Given the description of an element on the screen output the (x, y) to click on. 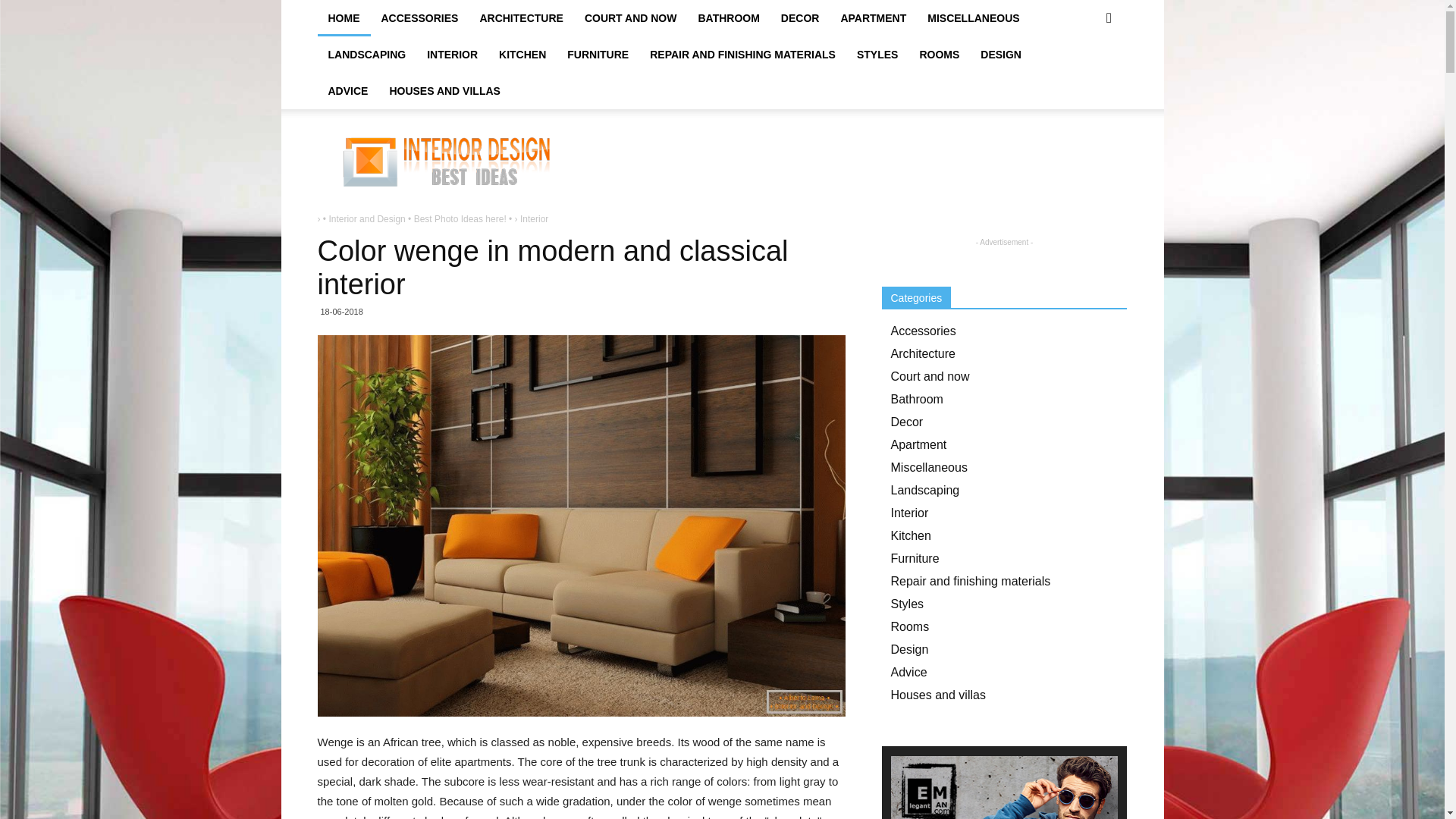
HOME (343, 18)
MISCELLANEOUS (973, 18)
REPAIR AND FINISHING MATERIALS (742, 54)
COURT AND NOW (630, 18)
KITCHEN (521, 54)
INTERIOR (451, 54)
APARTMENT (873, 18)
ACCESSORIES (418, 18)
ARCHITECTURE (520, 18)
DECOR (799, 18)
